Given the description of an element on the screen output the (x, y) to click on. 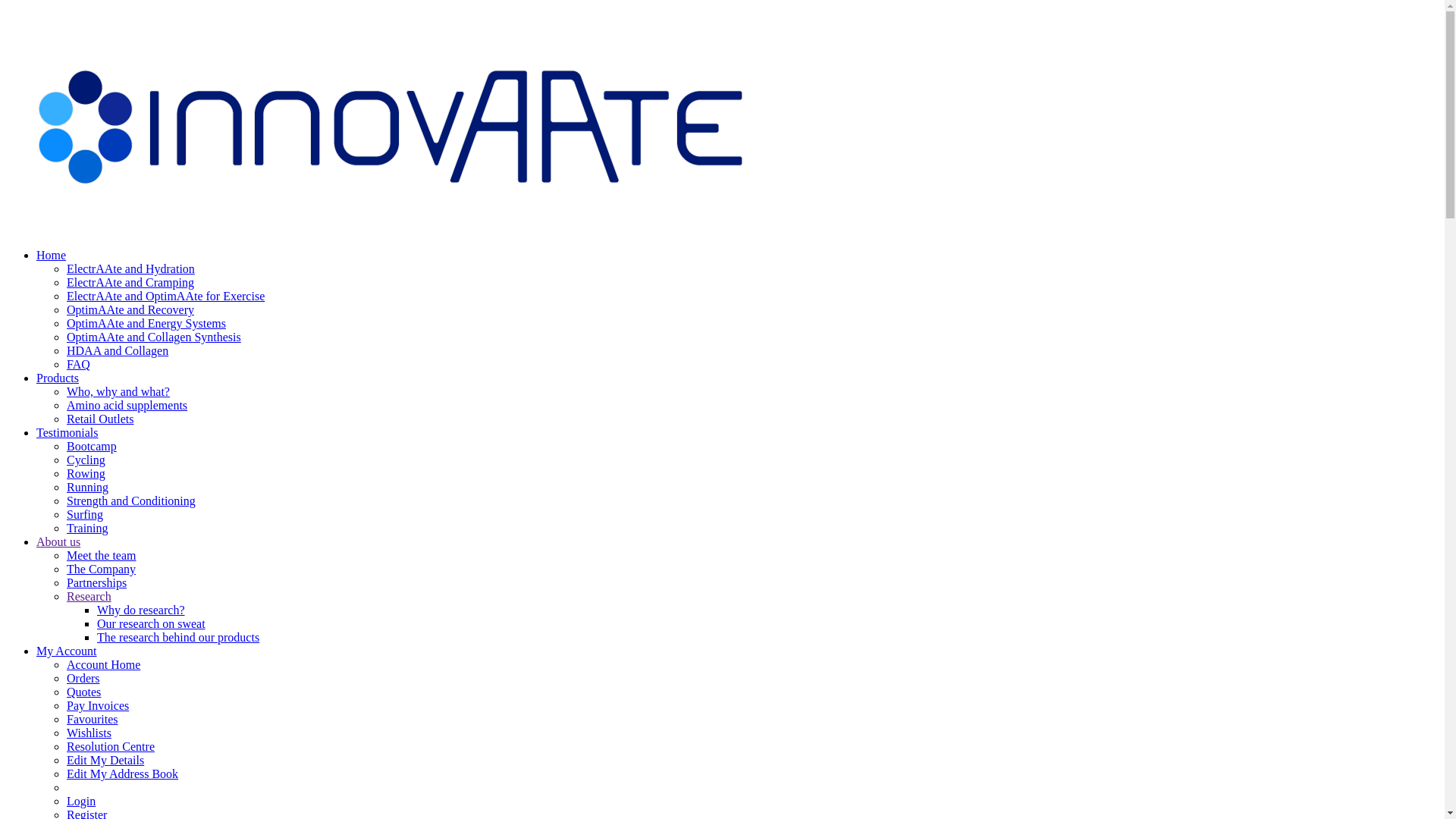
Bootcamp Element type: text (91, 445)
Pay Invoices Element type: text (97, 705)
Research Element type: text (88, 595)
The research behind our products Element type: text (178, 636)
ElectrAAte and Cramping Element type: text (130, 282)
Products Element type: text (57, 377)
Wishlists Element type: text (88, 732)
Edit My Details Element type: text (105, 759)
Who, why and what? Element type: text (117, 391)
Rowing Element type: text (85, 473)
Retail Outlets Element type: text (99, 418)
Surfing Element type: text (84, 514)
OptimAAte and Collagen Synthesis Element type: text (153, 336)
About us Element type: text (58, 541)
Amino acid supplements Element type: text (126, 404)
OptimAAte and Energy Systems Element type: text (145, 322)
ElectrAAte and Hydration Element type: text (130, 268)
Favourites Element type: text (92, 718)
ElectrAAte and OptimAAte for Exercise Element type: text (165, 295)
Training Element type: text (87, 527)
Why do research? Element type: text (141, 609)
FAQ Element type: text (78, 363)
HDAA and Collagen Element type: text (117, 350)
Strength and Conditioning Element type: text (130, 500)
Meet the team Element type: text (101, 555)
Home Element type: text (50, 254)
Login Element type: text (80, 800)
OptimAAte and Recovery Element type: text (130, 309)
The Company Element type: text (100, 568)
My Account Element type: text (66, 650)
Quotes Element type: text (83, 691)
Testimonials Element type: text (67, 432)
Edit My Address Book Element type: text (122, 773)
Cycling Element type: text (85, 459)
Partnerships Element type: text (96, 582)
InnovAAte Pty Ltd Element type: hover (385, 228)
Resolution Centre Element type: text (110, 746)
Our research on sweat Element type: text (151, 623)
Orders Element type: text (83, 677)
Running Element type: text (87, 486)
Account Home Element type: text (103, 664)
